Given the description of an element on the screen output the (x, y) to click on. 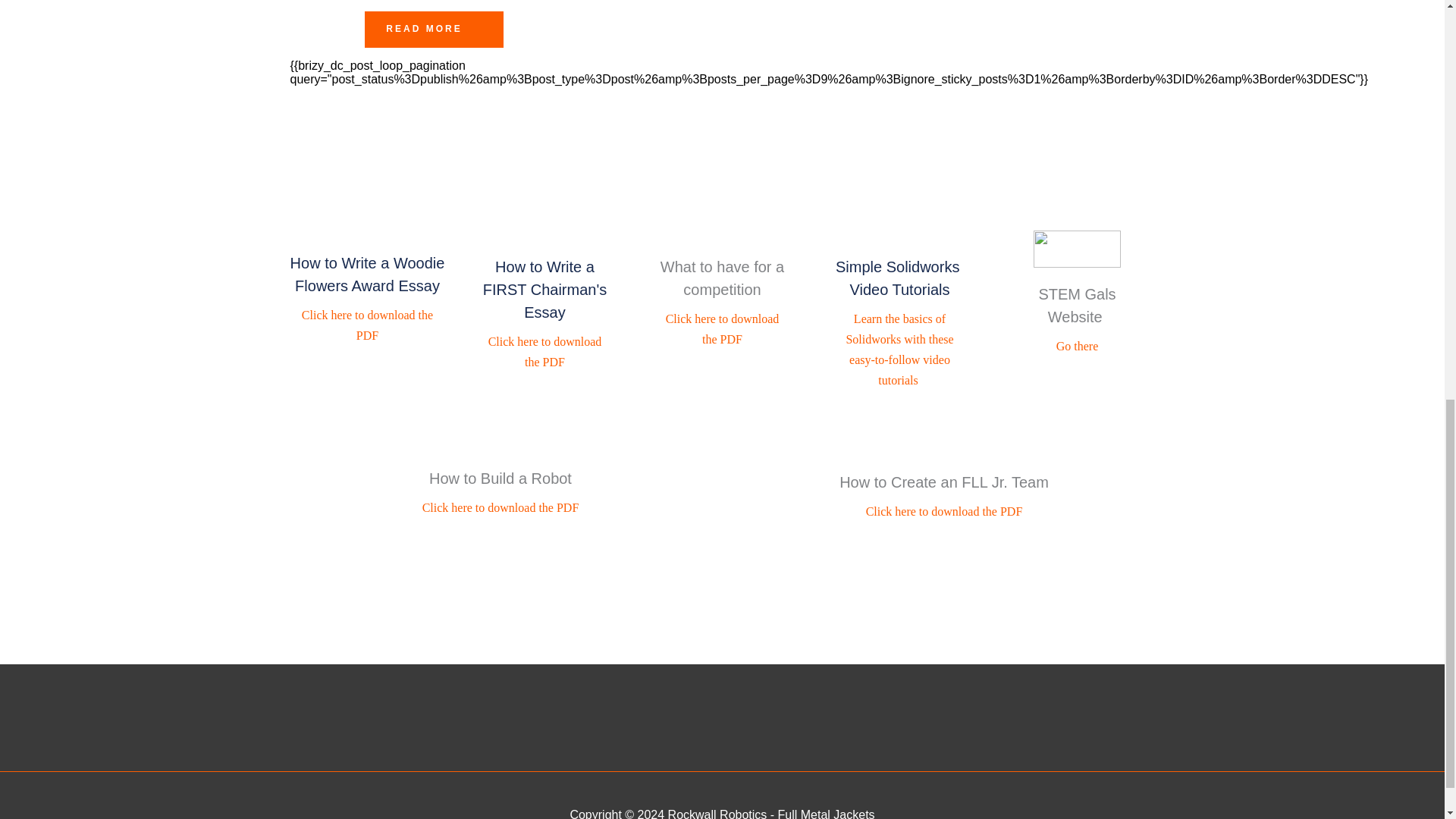
Click here to download the PDF (724, 328)
Go there (1078, 345)
Click here to download the PDF (944, 511)
READ MORE (433, 29)
Click here to download the PDF (546, 351)
Click here to download the PDF (368, 325)
Click here to download the PDF (500, 507)
